Given the description of an element on the screen output the (x, y) to click on. 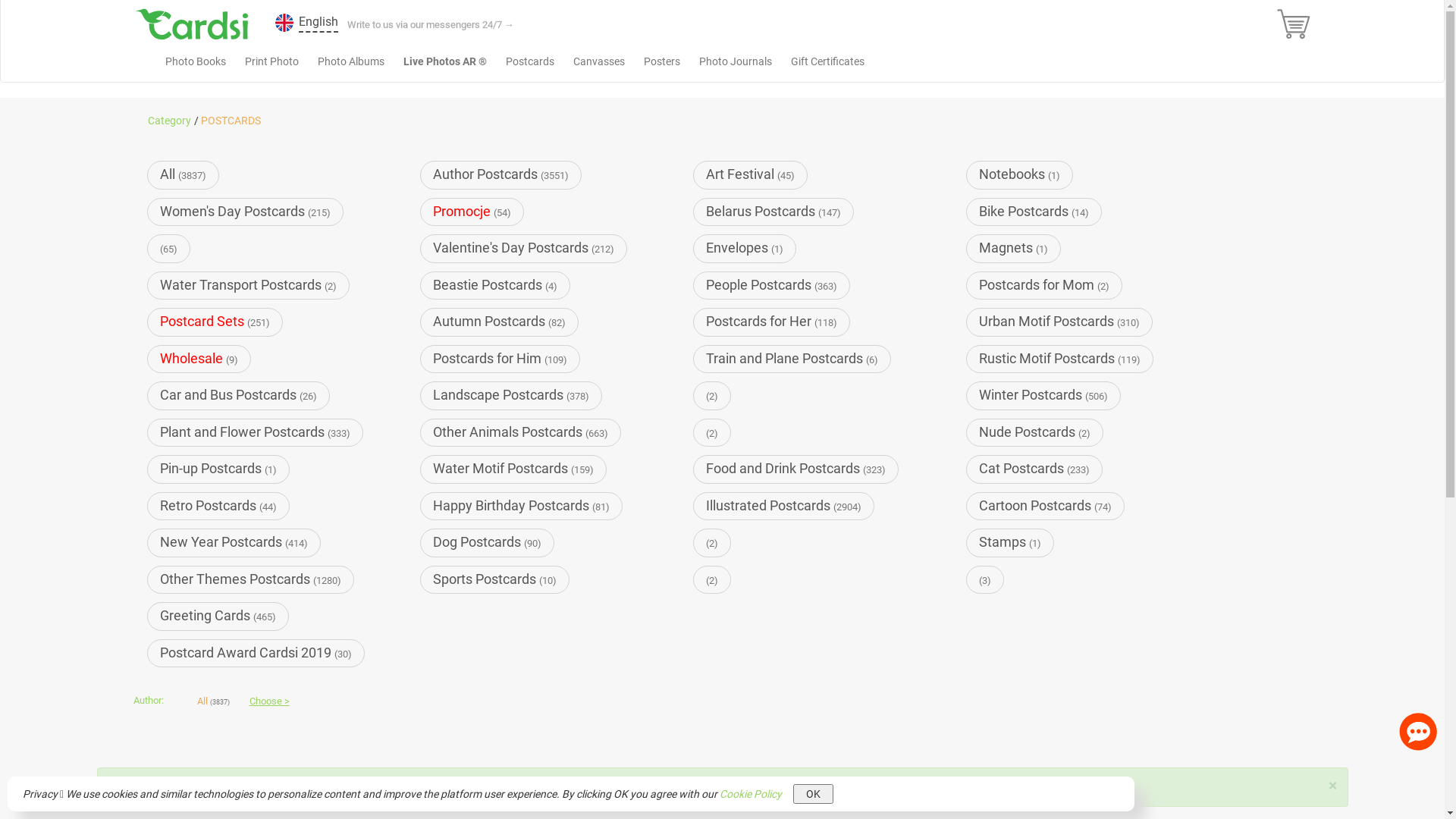
Cat Postcards (233) Element type: text (1034, 469)
Stamps (1) Element type: text (1010, 542)
Postcards for Mom (2) Element type: text (1044, 285)
Canvasses Element type: text (598, 61)
Nude Postcards (2) Element type: text (1034, 432)
Train and Plane Postcards (6) Element type: text (792, 359)
Cookie Policy Element type: text (750, 793)
All (3837) Element type: text (213, 706)
Postcards for Her (118) Element type: text (771, 321)
Wholesale (9) Element type: text (199, 359)
Pin-up Postcards (1) Element type: text (218, 469)
Envelopes (1) Element type: text (744, 248)
Postcards for Him (109) Element type: text (500, 359)
(2) Element type: text (712, 579)
Author: Element type: text (153, 706)
Postcard Sets (251) Element type: text (214, 321)
Posters Element type: text (661, 61)
Happy Birthday Postcards (81) Element type: text (521, 506)
Women's Day Postcards (215) Element type: text (245, 211)
Author Postcards (3551) Element type: text (500, 174)
Retro Postcards (44) Element type: text (218, 506)
Art Festival (45) Element type: text (750, 174)
Category Element type: text (169, 120)
New Year Postcards (414) Element type: text (233, 542)
Car and Bus Postcards (26) Element type: text (238, 395)
Belarus Postcards (147) Element type: text (773, 211)
English Element type: text (318, 23)
Greeting Cards (465) Element type: text (217, 616)
(2) Element type: text (712, 395)
Gift Certificates Element type: text (827, 61)
Water Transport Postcards (2) Element type: text (248, 285)
Notebooks (1) Element type: text (1019, 174)
Choose > Element type: text (269, 706)
Beastie Postcards (4) Element type: text (495, 285)
Winter Postcards (506) Element type: text (1043, 395)
Photo Journals Element type: text (734, 61)
Plant and Flower Postcards (333) Element type: text (255, 432)
(2) Element type: text (712, 432)
Valentine's Day Postcards (212) Element type: text (523, 248)
Illustrated Postcards (2904) Element type: text (783, 506)
Print Photo Element type: text (271, 61)
POSTCARDS Element type: text (230, 120)
Landscape Postcards (378) Element type: text (511, 395)
Rustic Motif Postcards (119) Element type: text (1059, 359)
cart Element type: text (325, 787)
   OK    Element type: text (813, 793)
(3) Element type: text (985, 579)
Cartoon Postcards (74) Element type: text (1045, 506)
English Element type: text (293, 23)
(65) Element type: text (168, 248)
Other Themes Postcards (1280) Element type: text (250, 579)
Other Animals Postcards (663) Element type: text (520, 432)
Sports Postcards (10) Element type: text (494, 579)
Food and Drink Postcards (323) Element type: text (795, 469)
Urban Motif Postcards (310) Element type: text (1059, 321)
Promocje (54) Element type: text (472, 211)
Water Motif Postcards (159) Element type: text (513, 469)
All (3837) Element type: text (183, 174)
Autumn Postcards (82) Element type: text (499, 321)
Postcards Element type: text (529, 61)
Photo Books Element type: text (194, 61)
Magnets (1) Element type: text (1013, 248)
Photo Albums Element type: text (350, 61)
Postcard Award Cardsi 2019 (30) Element type: text (255, 653)
Bike Postcards (14) Element type: text (1033, 211)
Dog Postcards (90) Element type: text (487, 542)
(2) Element type: text (712, 542)
People Postcards (363) Element type: text (771, 285)
